Given the description of an element on the screen output the (x, y) to click on. 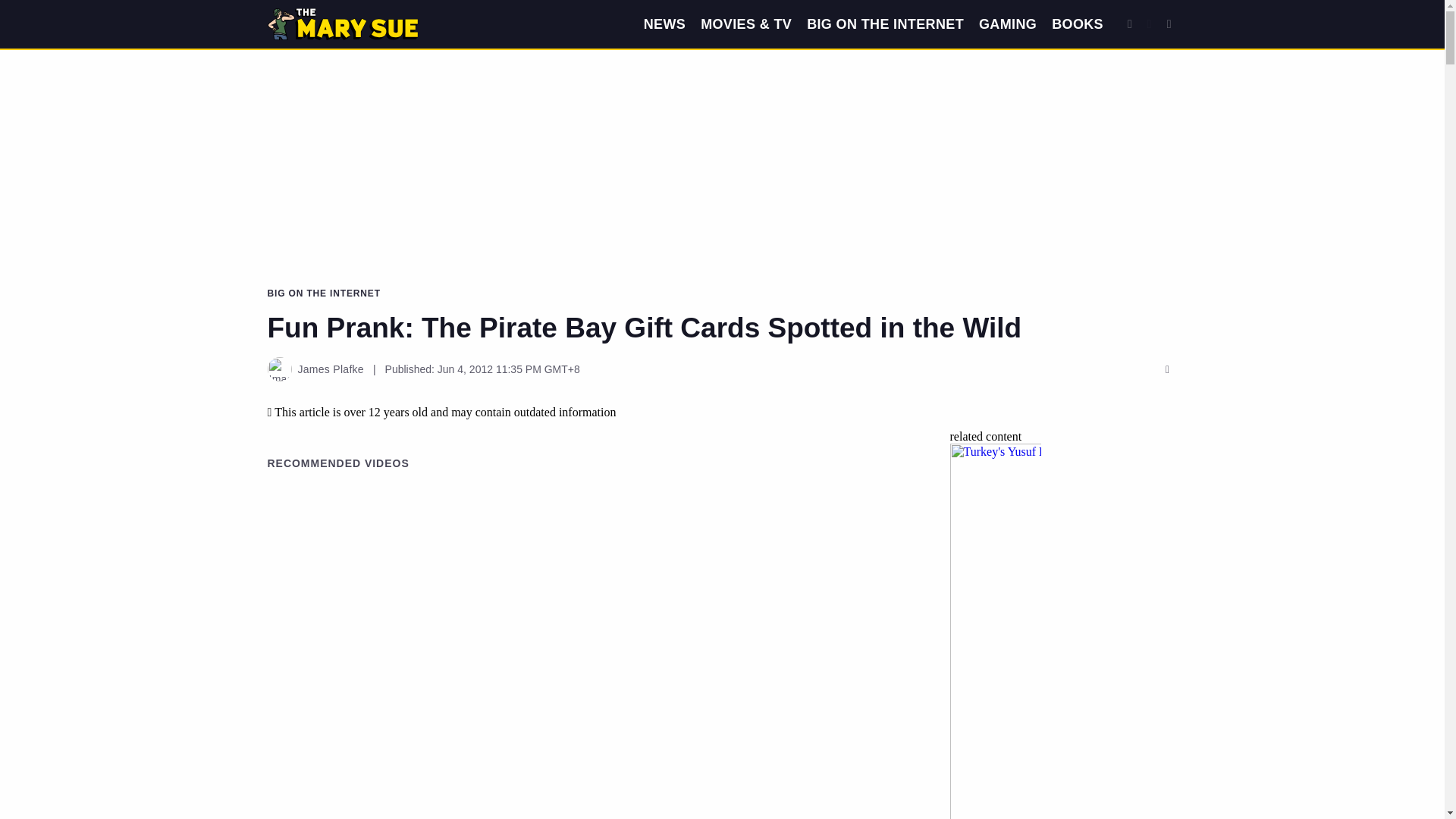
BOOKS (1077, 23)
NEWS (664, 23)
BIG ON THE INTERNET (884, 23)
GAMING (1007, 23)
